Given the description of an element on the screen output the (x, y) to click on. 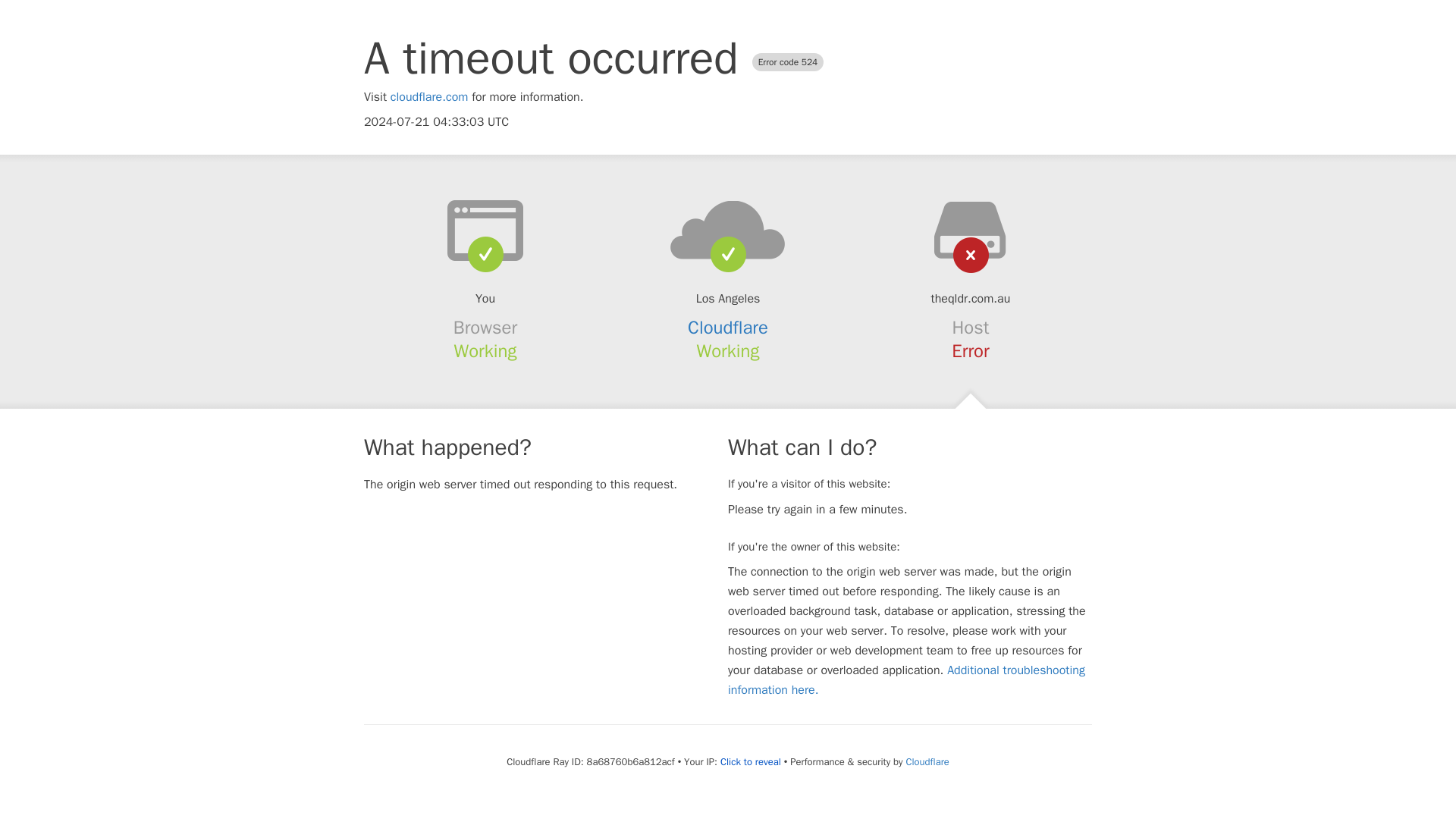
Cloudflare (927, 761)
cloudflare.com (429, 96)
Cloudflare (727, 327)
Click to reveal (750, 762)
Additional troubleshooting information here. (906, 679)
